Given the description of an element on the screen output the (x, y) to click on. 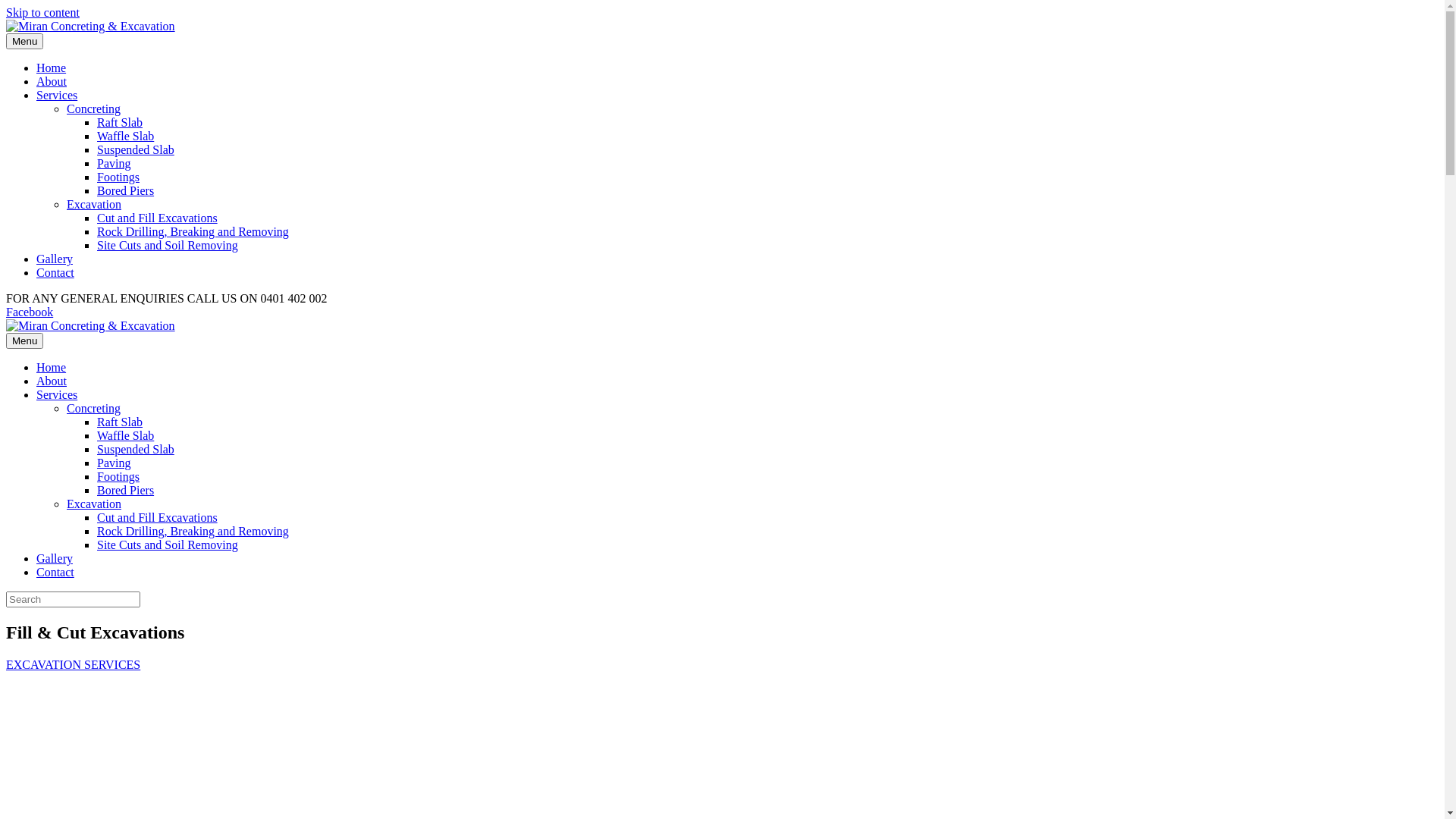
Waffle Slab Element type: text (125, 435)
Rock Drilling, Breaking and Removing Element type: text (192, 530)
EXCAVATION SERVICES Element type: text (73, 664)
About Element type: text (51, 81)
Rock Drilling, Breaking and Removing Element type: text (192, 231)
Paving Element type: text (113, 462)
Contact Element type: text (55, 272)
Home Element type: text (50, 67)
Suspended Slab Element type: text (135, 448)
Footings Element type: text (118, 476)
Concreting Element type: text (93, 407)
Services Element type: text (56, 394)
Contact Element type: text (55, 571)
Suspended Slab Element type: text (135, 149)
Menu Element type: text (24, 340)
Concreting Element type: text (93, 108)
Site Cuts and Soil Removing Element type: text (167, 244)
Home Element type: text (50, 366)
Site Cuts and Soil Removing Element type: text (167, 544)
Raft Slab Element type: text (119, 421)
Facebook Element type: text (29, 311)
Skip to content Element type: text (42, 12)
Raft Slab Element type: text (119, 122)
Footings Element type: text (118, 176)
Excavation Element type: text (93, 203)
Type and press Enter to search. Element type: hover (722, 599)
Excavation Element type: text (93, 503)
Gallery Element type: text (54, 258)
Services Element type: text (56, 94)
About Element type: text (51, 380)
Cut and Fill Excavations Element type: text (157, 517)
Waffle Slab Element type: text (125, 135)
Menu Element type: text (24, 41)
Gallery Element type: text (54, 558)
Paving Element type: text (113, 162)
Bored Piers Element type: text (125, 190)
Bored Piers Element type: text (125, 489)
Cut and Fill Excavations Element type: text (157, 217)
